Given the description of an element on the screen output the (x, y) to click on. 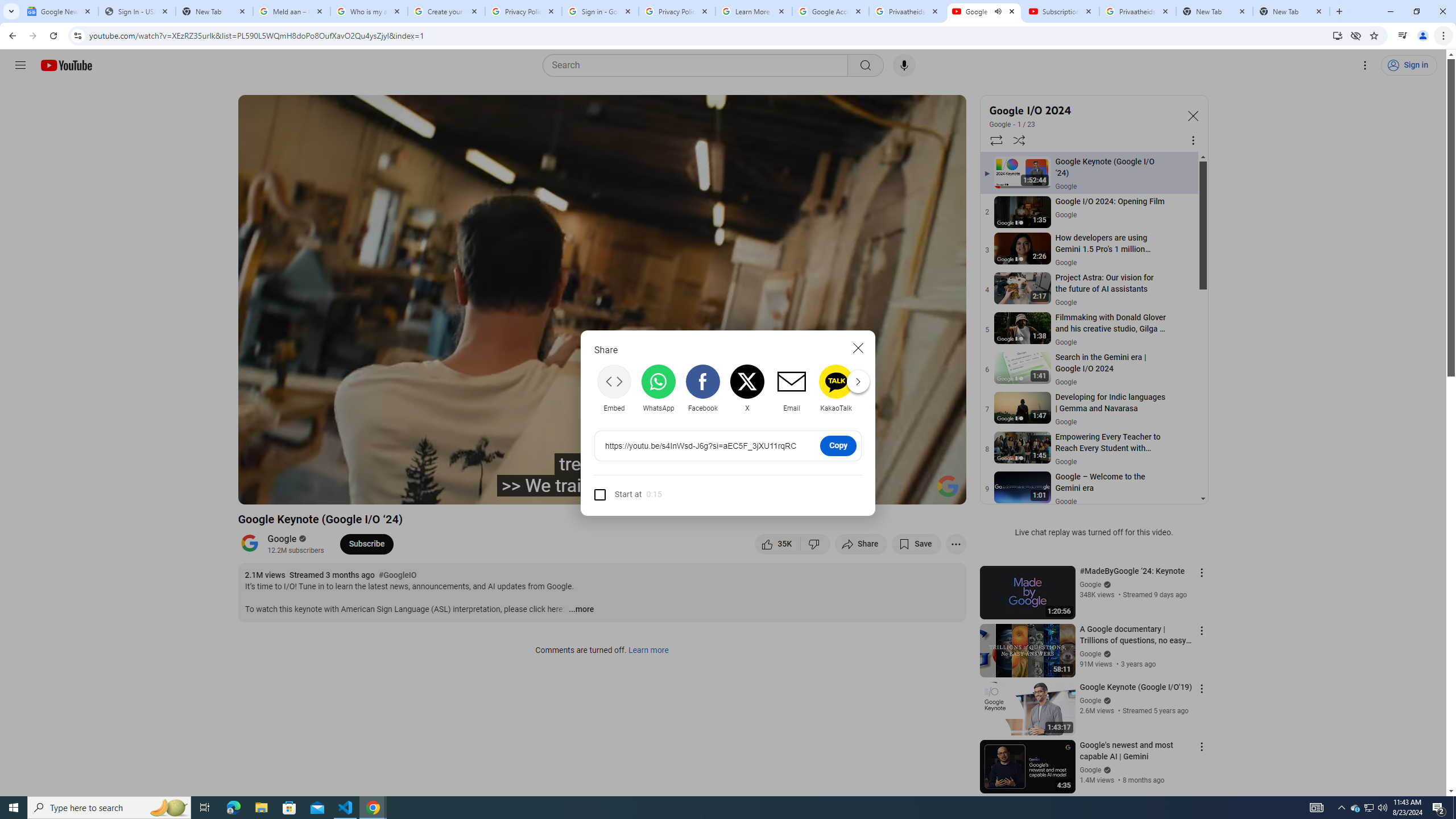
Theater mode (t) (917, 490)
X (747, 388)
Opening Film (434, 490)
Embed (614, 387)
Search with your voice (903, 65)
Facebook (702, 387)
Copy (837, 445)
Sign In - USA TODAY (136, 11)
Next (858, 381)
YouTube Home (66, 65)
